Given the description of an element on the screen output the (x, y) to click on. 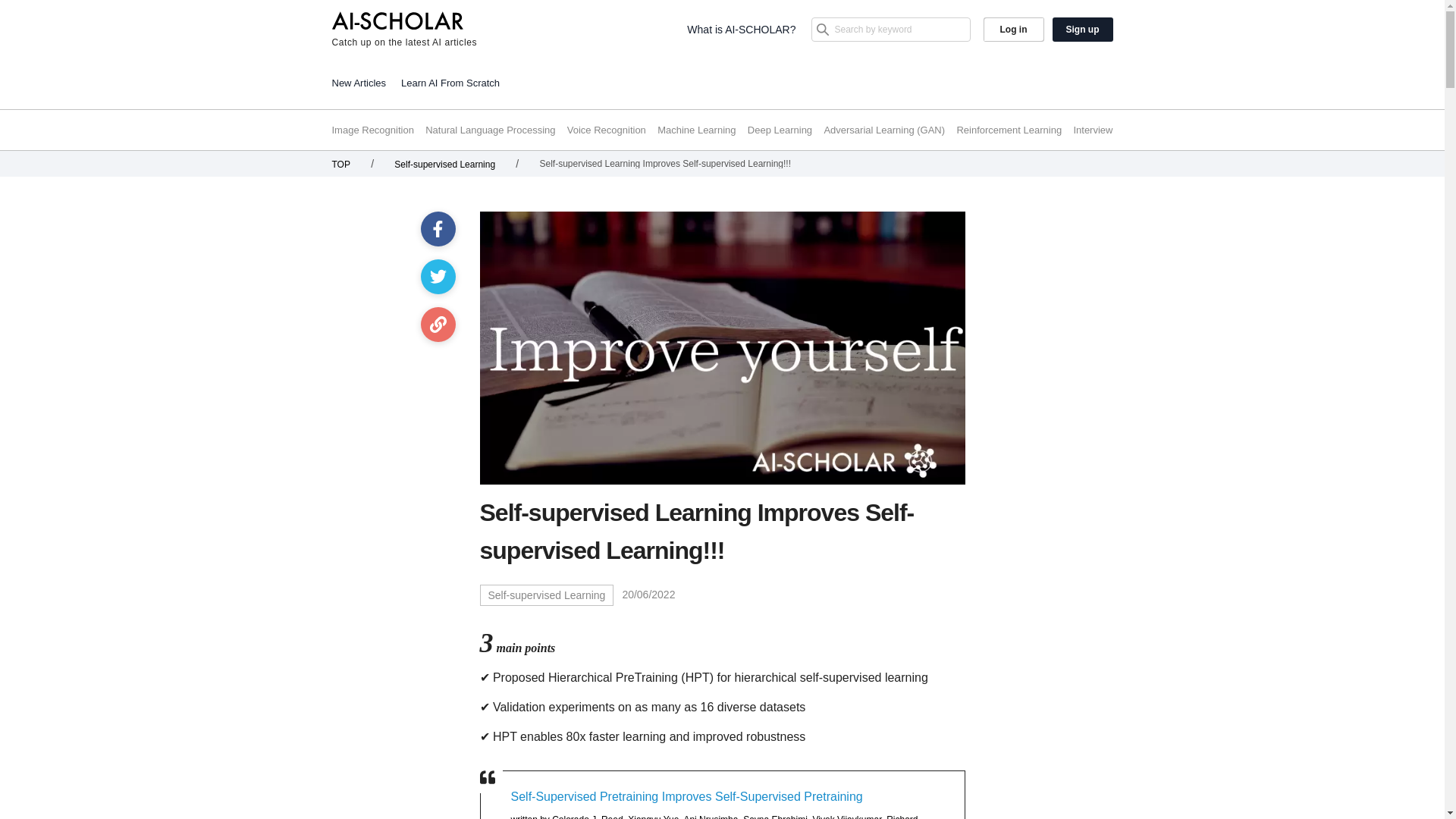
Self-supervised Learning (546, 594)
Deep Learning (780, 129)
Richard Mao (714, 816)
Machine Learning (696, 129)
Interview (1092, 129)
Vivek Vijaykumar (847, 816)
Sign up (1082, 29)
Colorado J. Reed (587, 816)
Xiangyu Yue (652, 816)
What is AI-SCHOLAR? (740, 28)
Self-supervised Learning (444, 163)
Learn AI From Scratch (450, 82)
New Articles (359, 82)
Reinforcement Learning (1008, 129)
Log in (1012, 29)
